Given the description of an element on the screen output the (x, y) to click on. 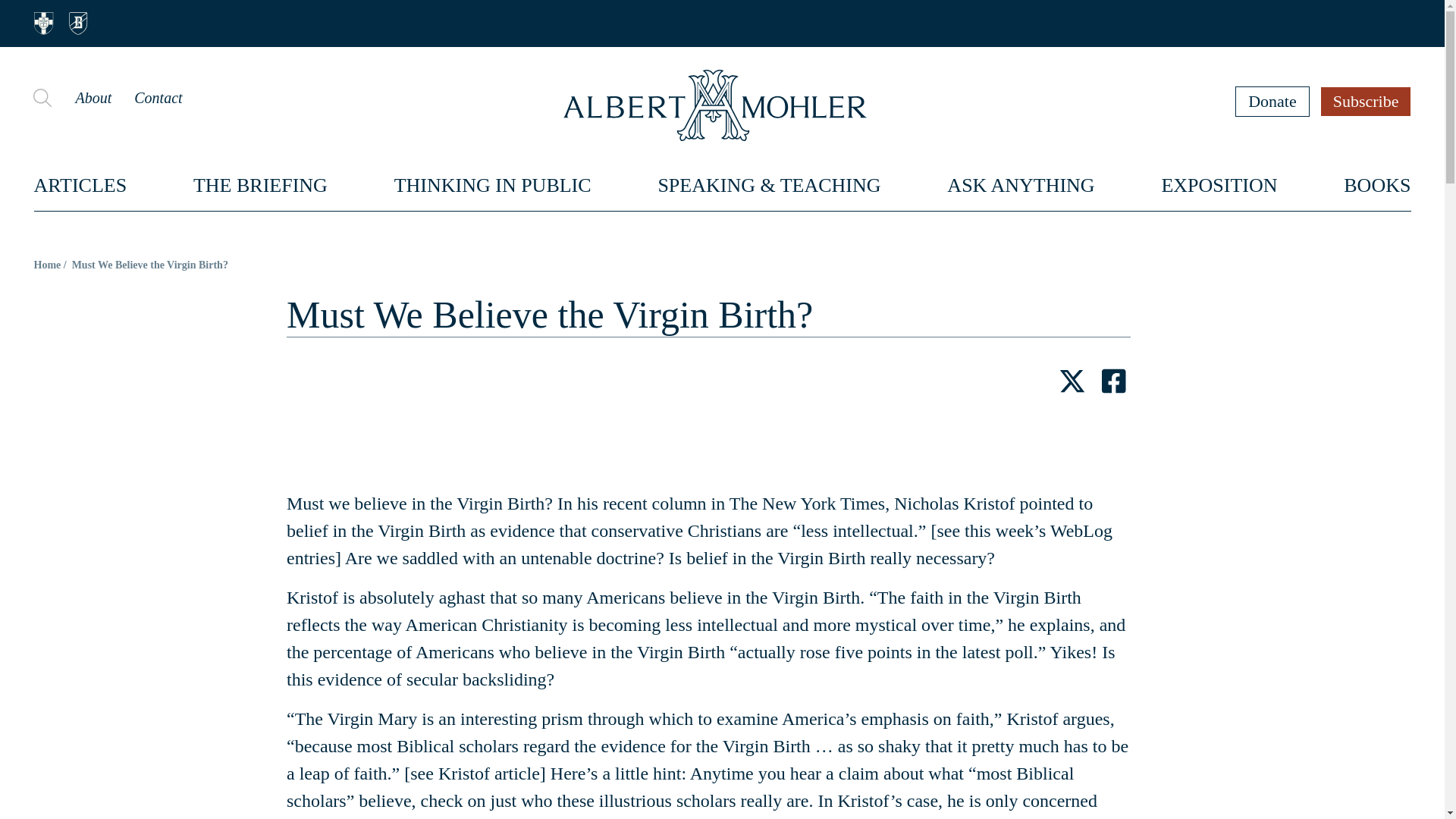
BOOKS (1376, 185)
Contact (157, 97)
THE BRIEFING (260, 185)
Subscribe (1366, 101)
THINKING IN PUBLIC (492, 185)
EXPOSITION (1218, 185)
ARTICLES (79, 185)
About (93, 97)
Home (47, 264)
ASK ANYTHING (1020, 185)
Donate (1272, 101)
